Given the description of an element on the screen output the (x, y) to click on. 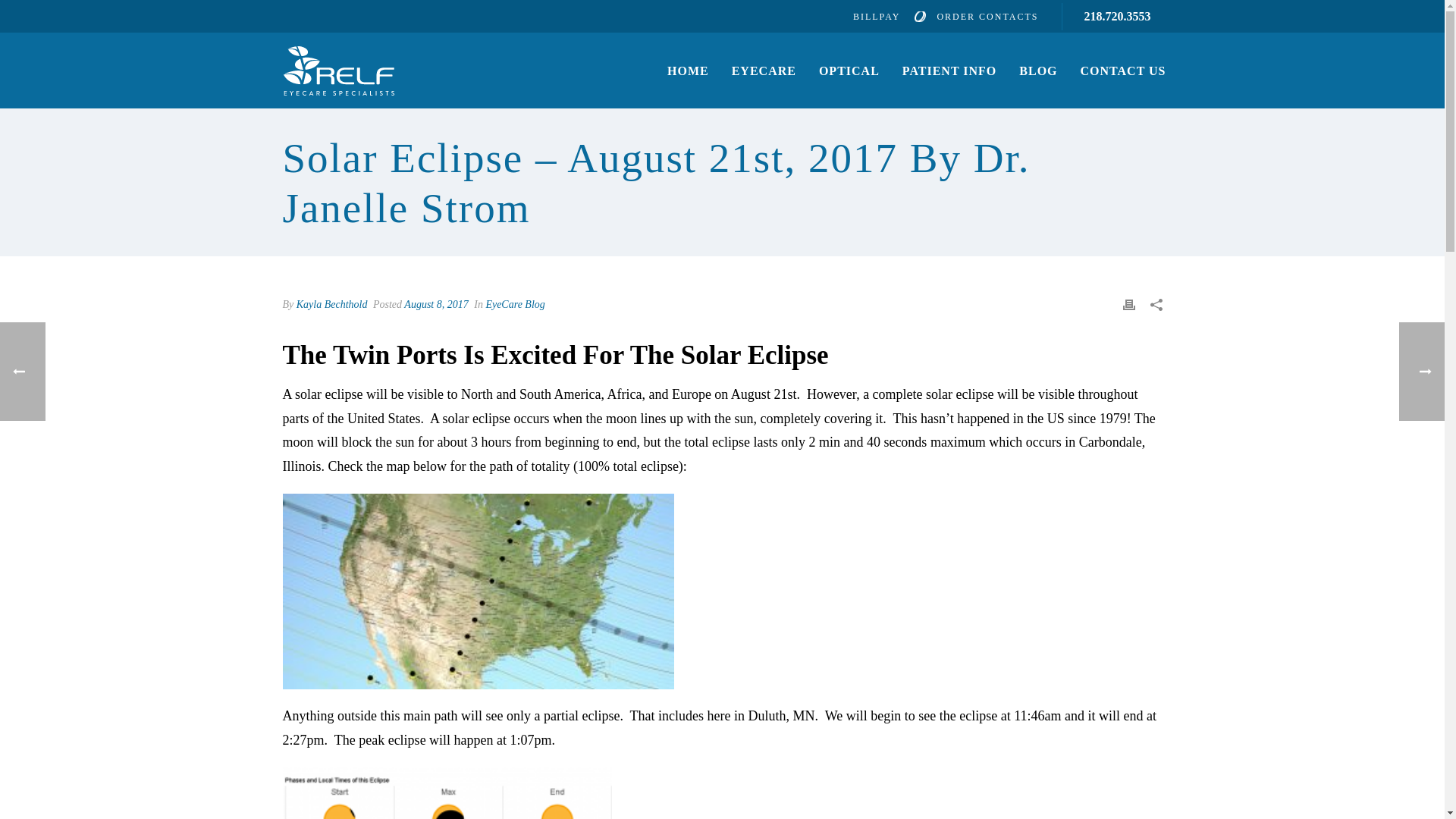
HOME (688, 71)
Print (1128, 304)
Eye Doctors in Duluth-Hermantown MN (337, 70)
ORDER CONTACTS (976, 16)
CONTACT US (1122, 71)
Posts by Kayla Bechthold (332, 304)
HOME (688, 71)
BILLPAY (876, 16)
EYECARE (764, 71)
BLOG (1037, 71)
PATIENT INFO (949, 71)
OPTICAL (849, 71)
EYECARE (764, 71)
CONTACT US (1122, 71)
PATIENT INFO (949, 71)
